Given the description of an element on the screen output the (x, y) to click on. 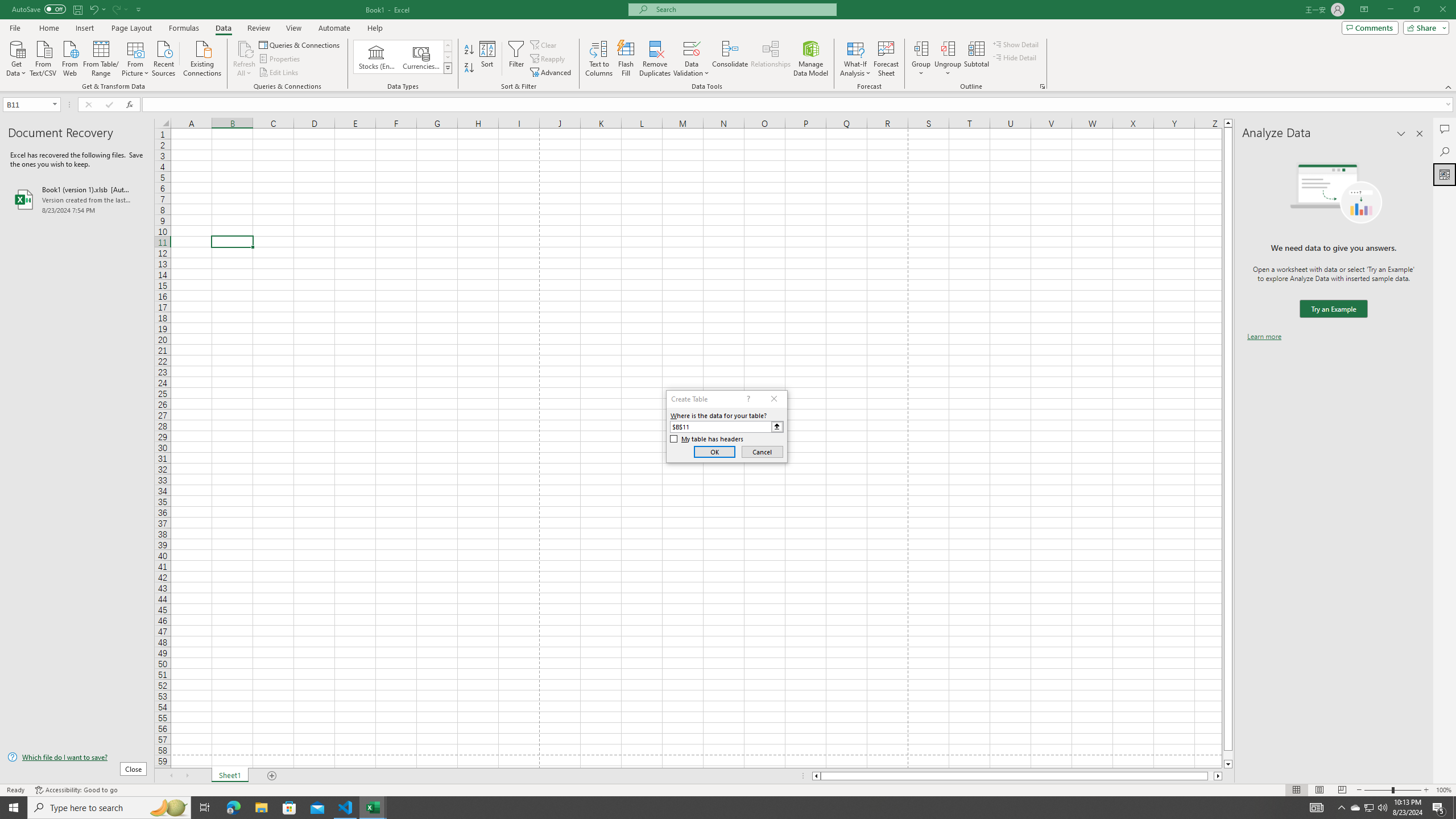
Consolidate... (729, 58)
